Given the description of an element on the screen output the (x, y) to click on. 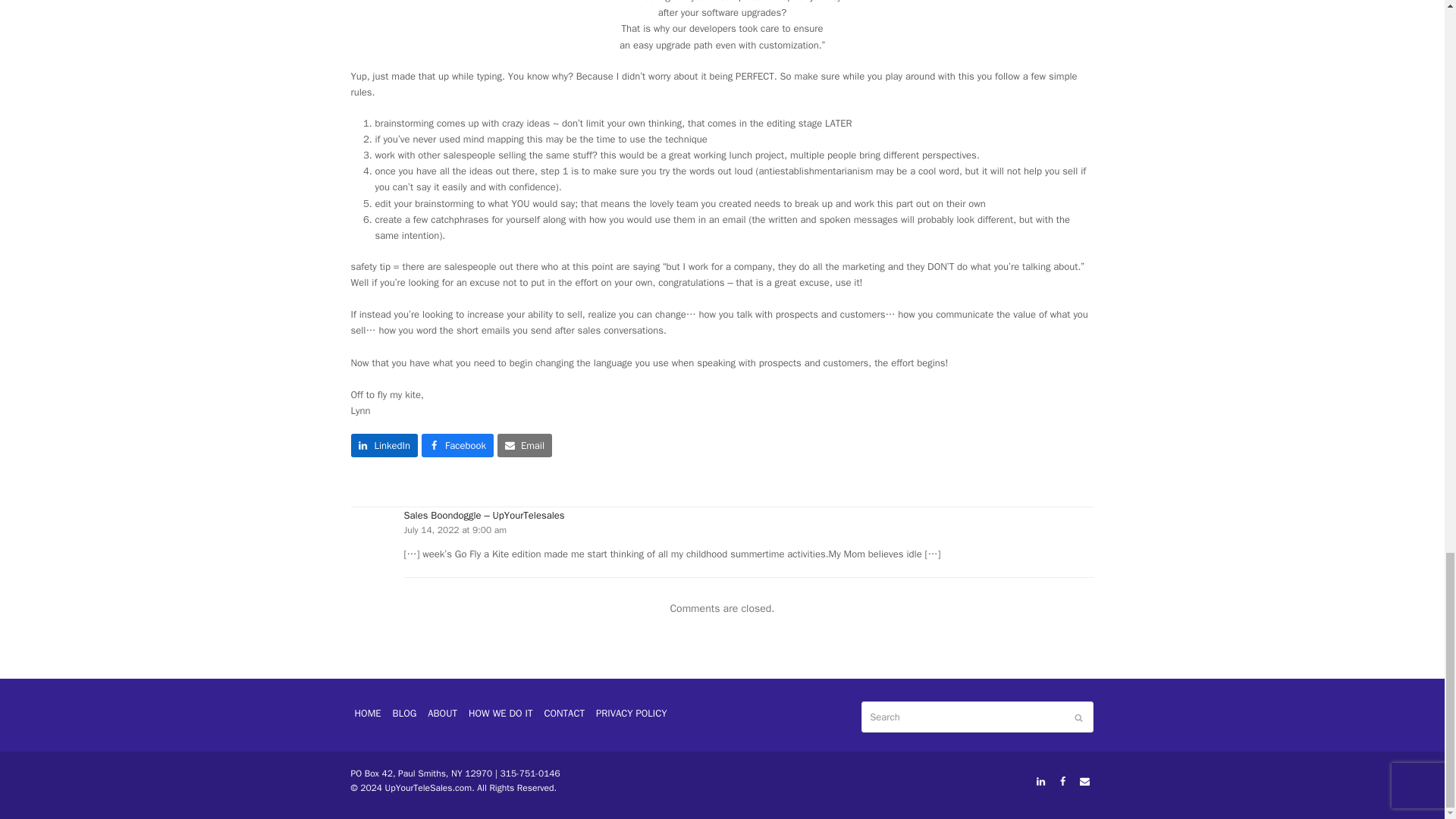
Facebook (1062, 781)
Email (1084, 781)
Email (524, 445)
CONTACT (564, 712)
LinkedIn (1040, 781)
Email (1084, 781)
Facebook (457, 445)
July 14, 2022 at 9:00 am (454, 530)
Facebook (1062, 781)
LinkedIn (383, 445)
LinkedIn (1040, 781)
ABOUT (442, 712)
HOME (367, 712)
PRIVACY POLICY (631, 712)
BLOG (404, 712)
